Given the description of an element on the screen output the (x, y) to click on. 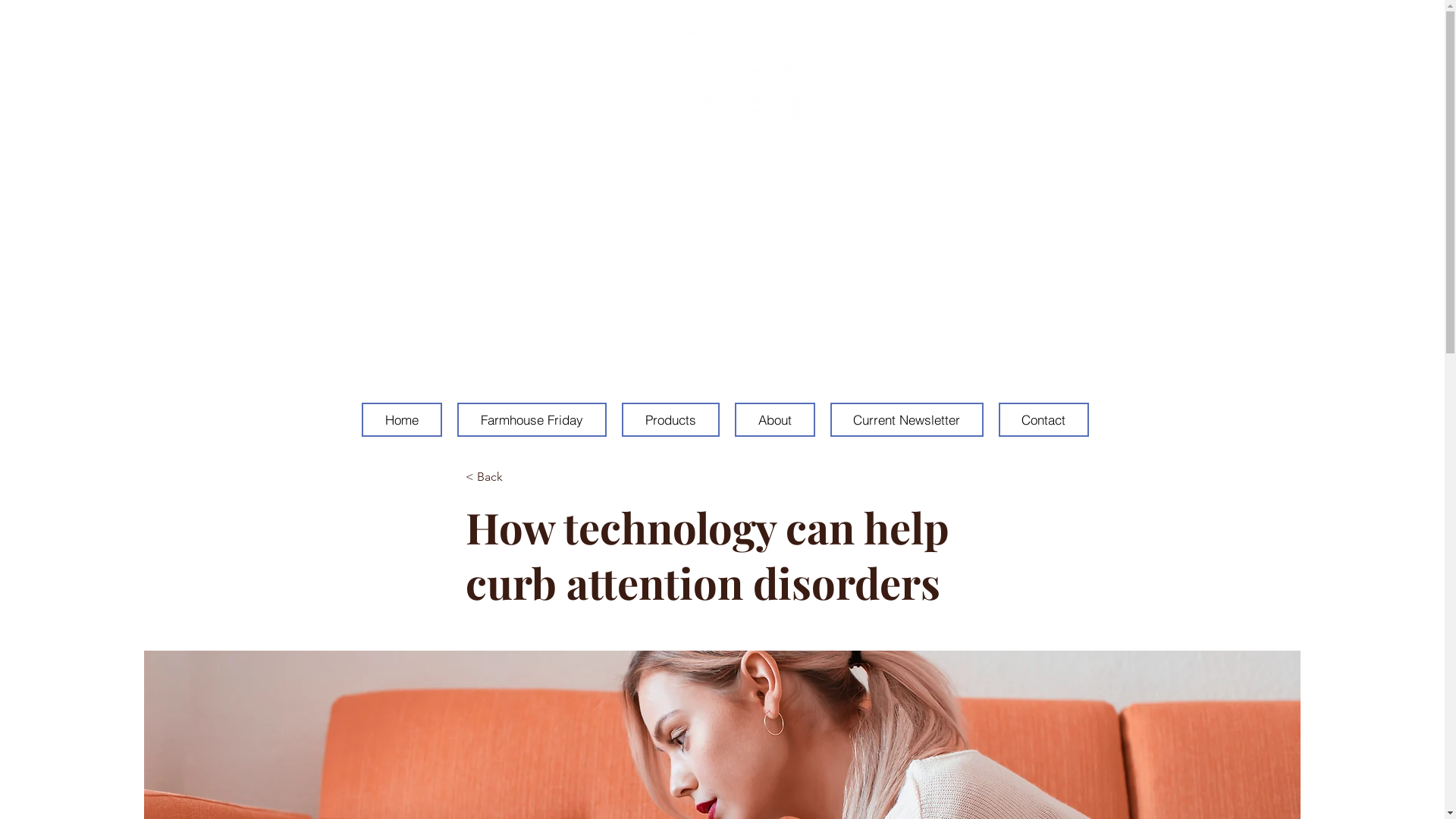
About Element type: text (774, 419)
Contact Element type: text (1042, 419)
Farmhouse Friday Element type: text (530, 458)
Current Newsletter Element type: text (905, 419)
Home Element type: text (400, 458)
Products Element type: text (670, 458)
